Given the description of an element on the screen output the (x, y) to click on. 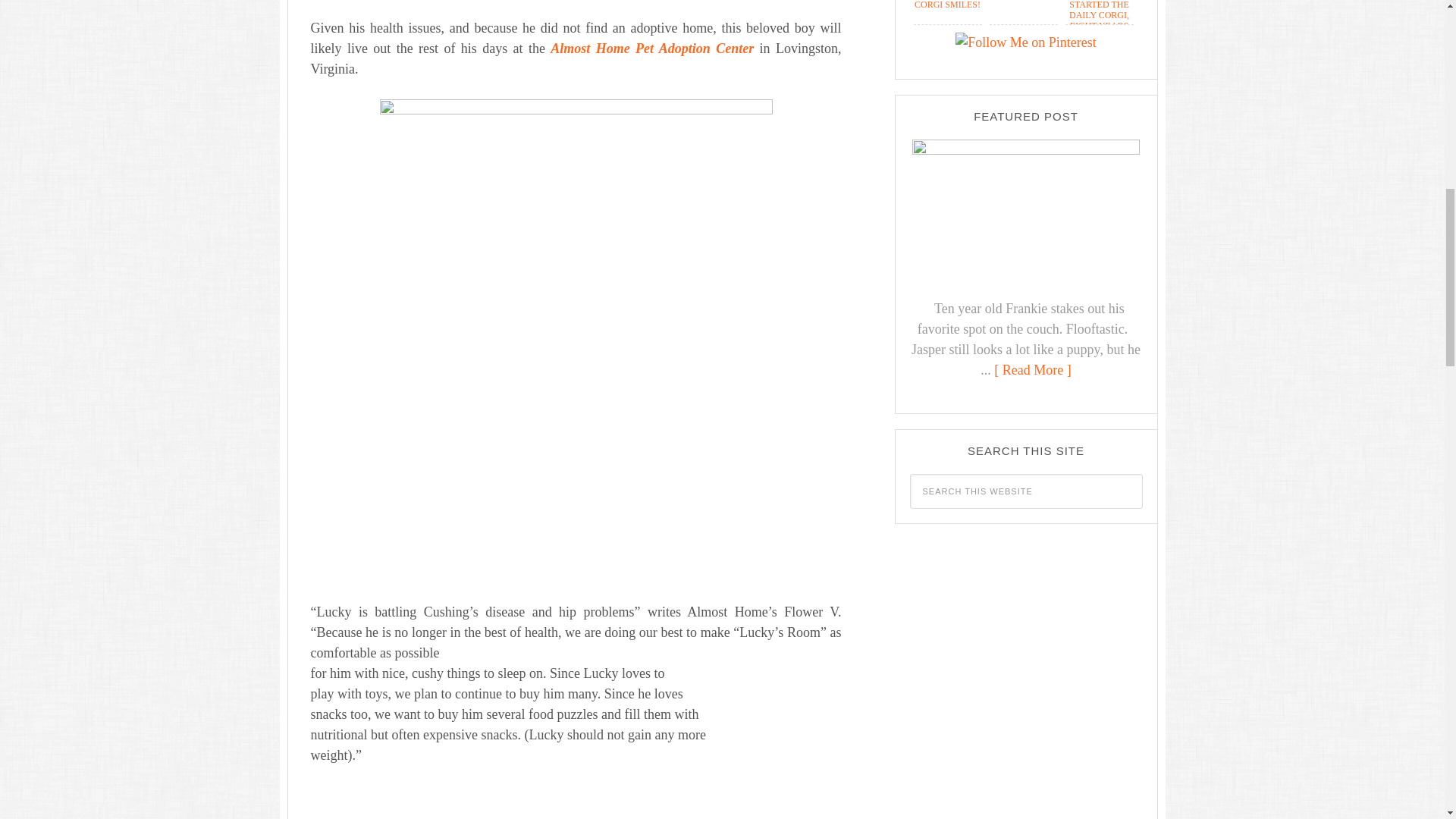
Almost Home Pet Adoption Center (652, 48)
Almost Home Pet Adoption Center (652, 48)
